Given the description of an element on the screen output the (x, y) to click on. 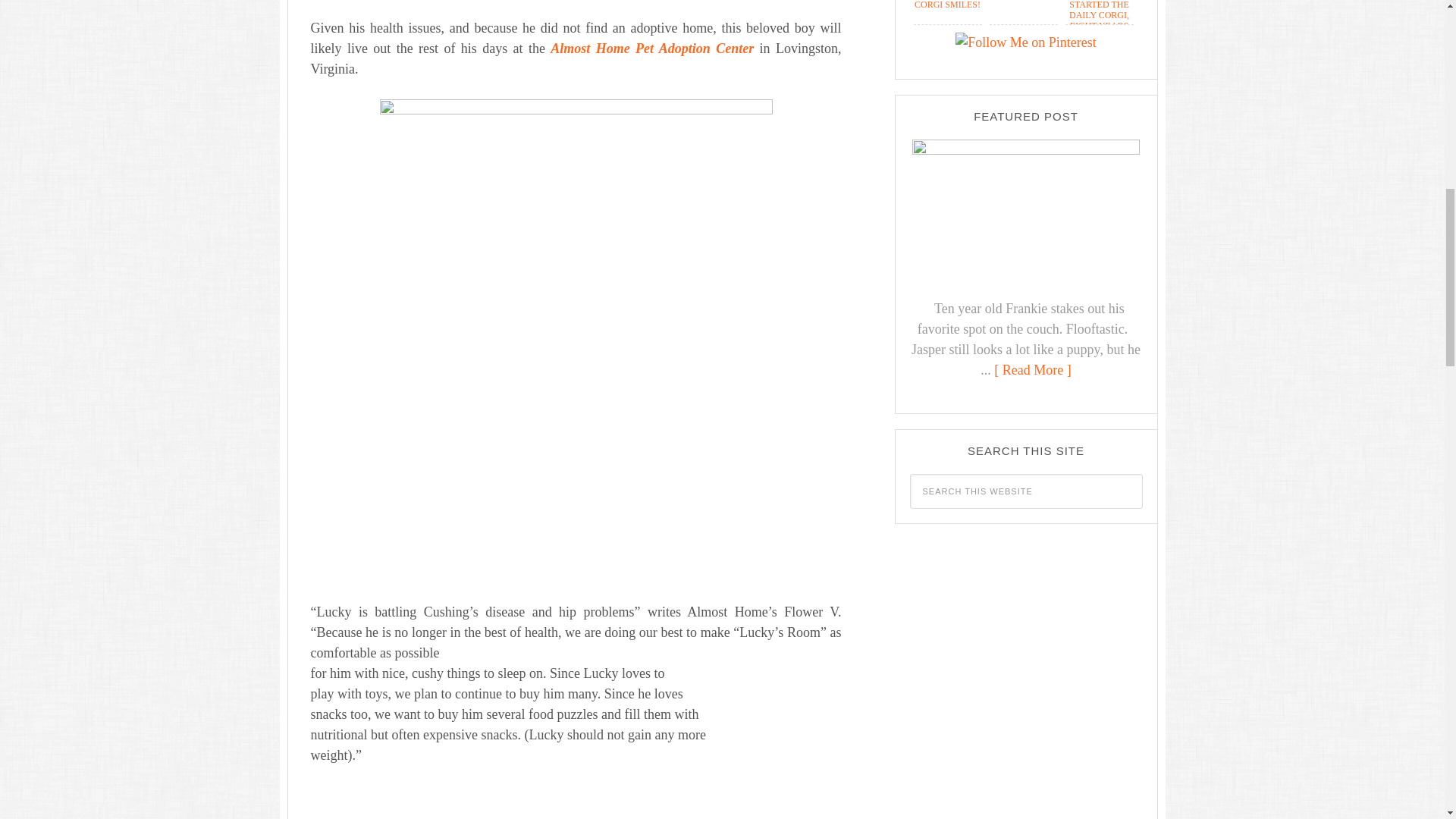
Almost Home Pet Adoption Center (652, 48)
Almost Home Pet Adoption Center (652, 48)
